Given the description of an element on the screen output the (x, y) to click on. 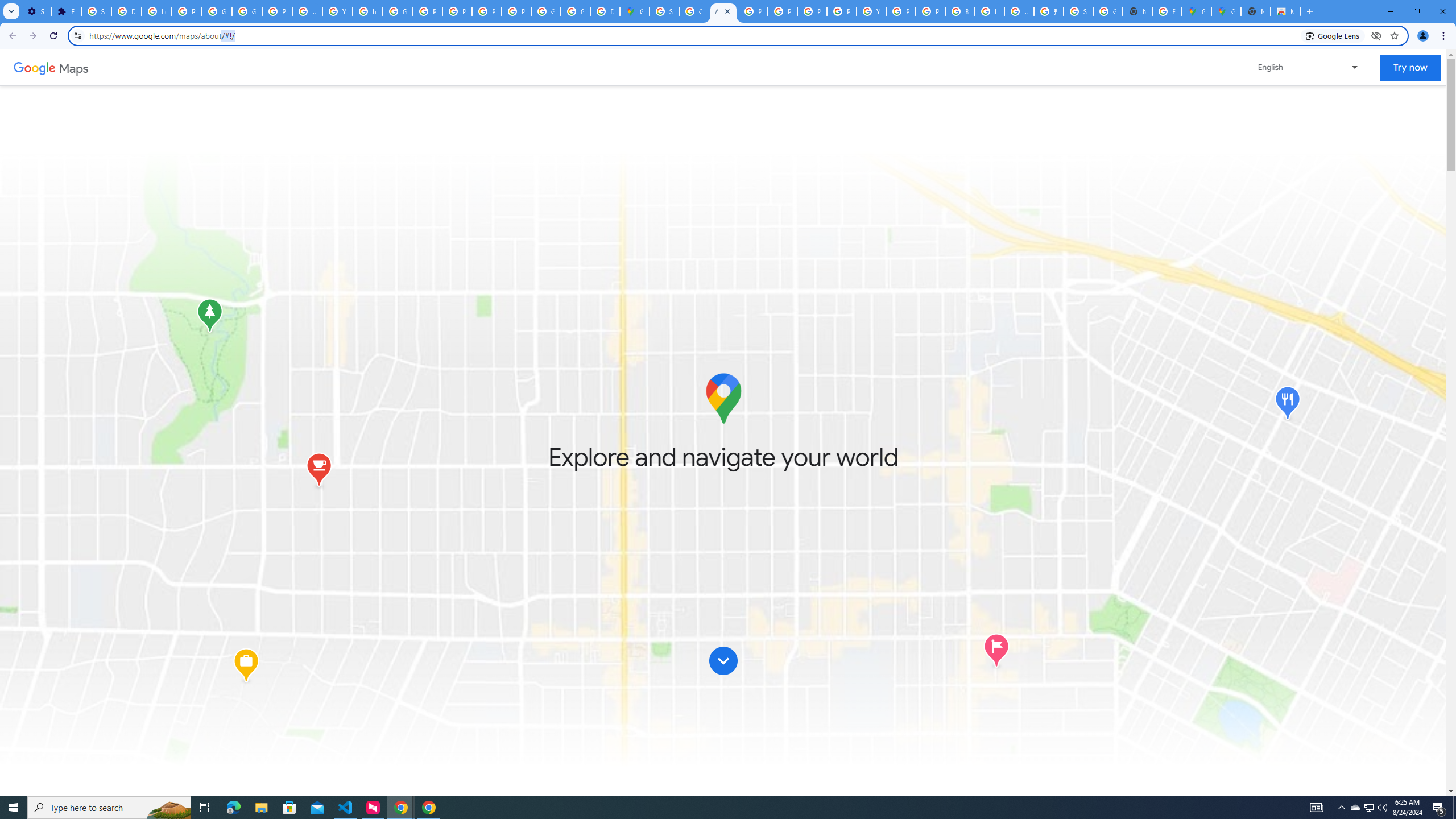
Google Maps (1226, 11)
YouTube (337, 11)
Sign in - Google Accounts (95, 11)
